Given the description of an element on the screen output the (x, y) to click on. 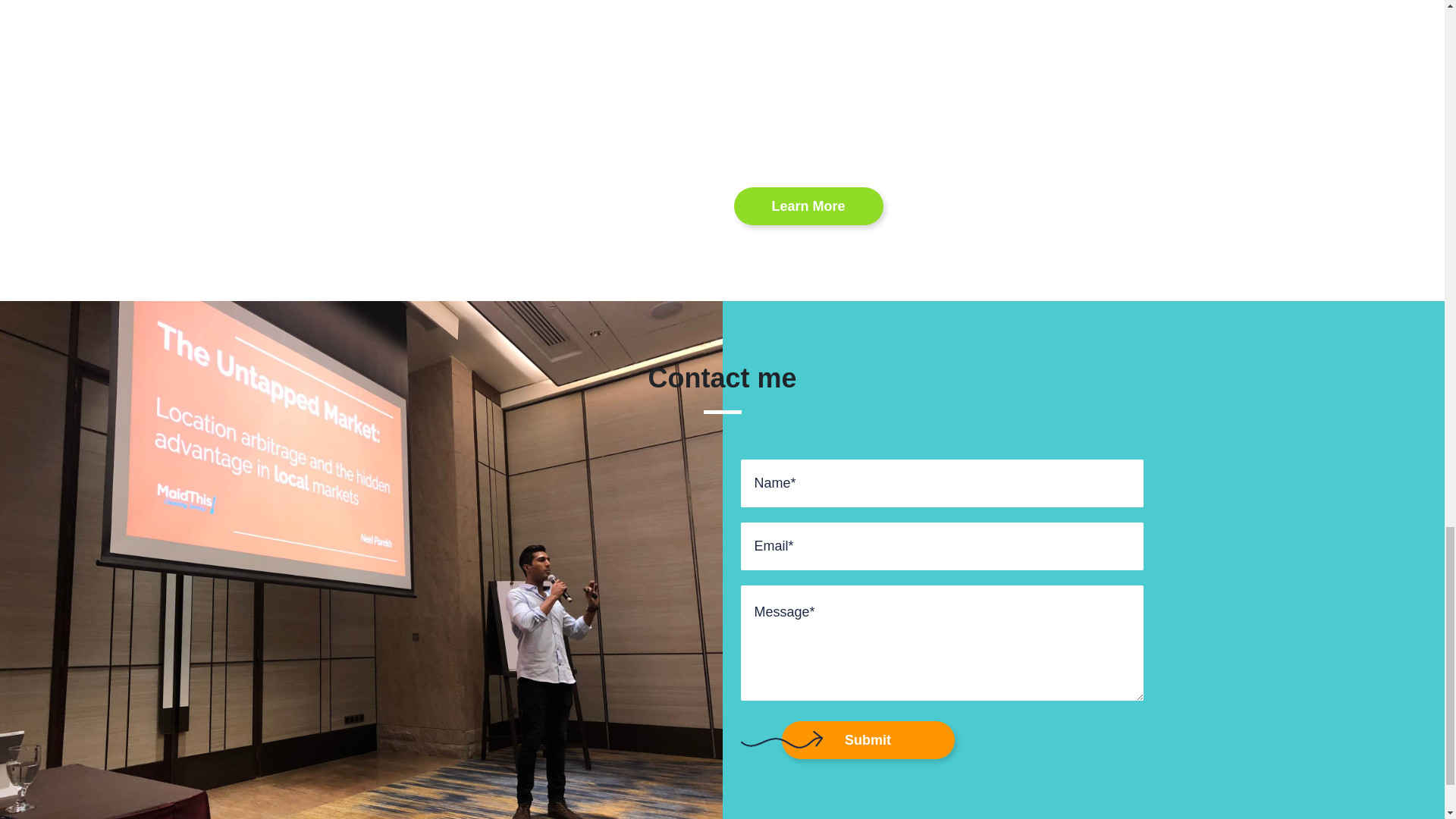
Learn More (808, 206)
MaidThis Franchise Origin Story with CEO Neel Parekh (976, 76)
Submit (866, 740)
